Given the description of an element on the screen output the (x, y) to click on. 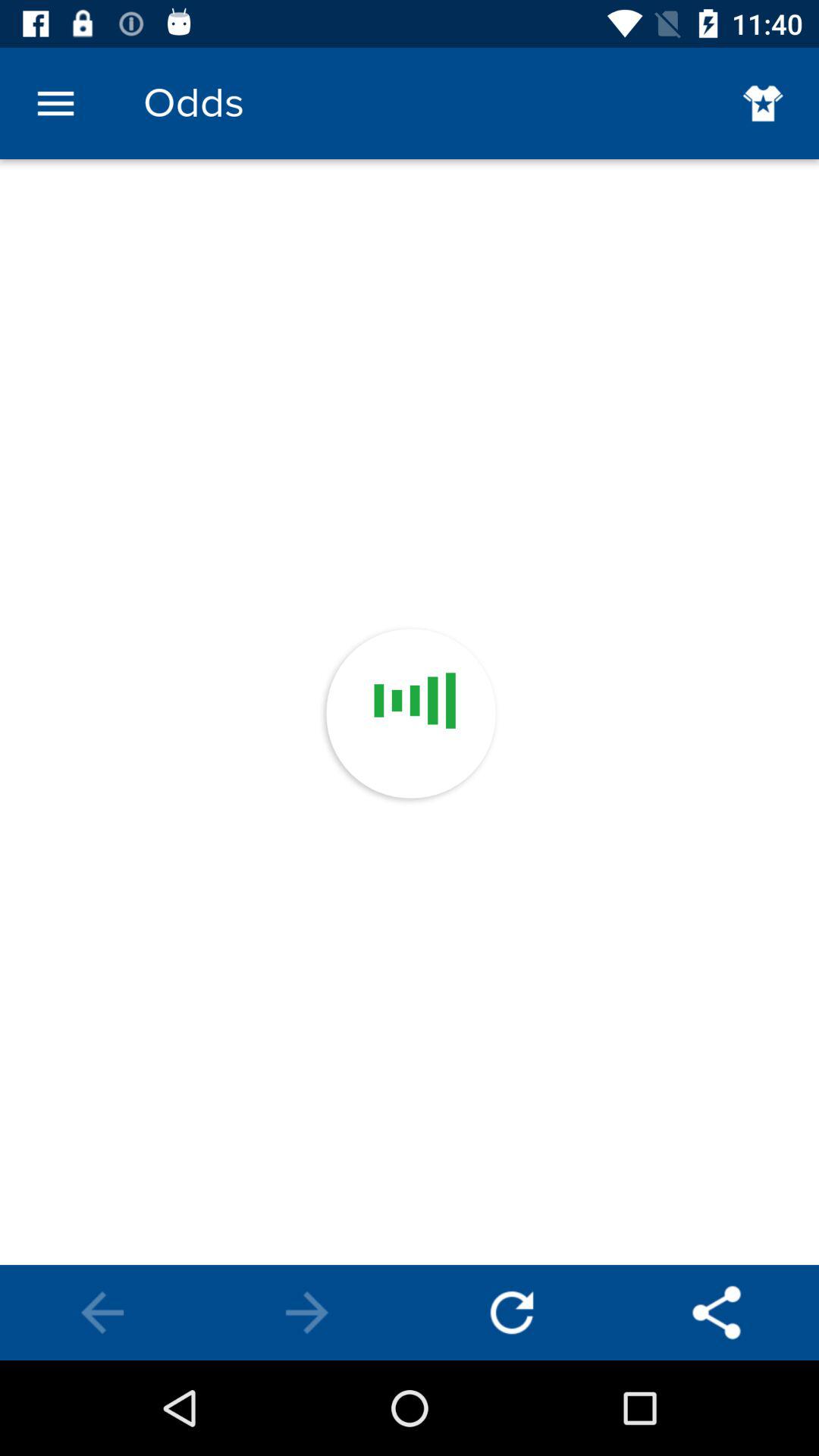
reload the odds (511, 1312)
